Given the description of an element on the screen output the (x, y) to click on. 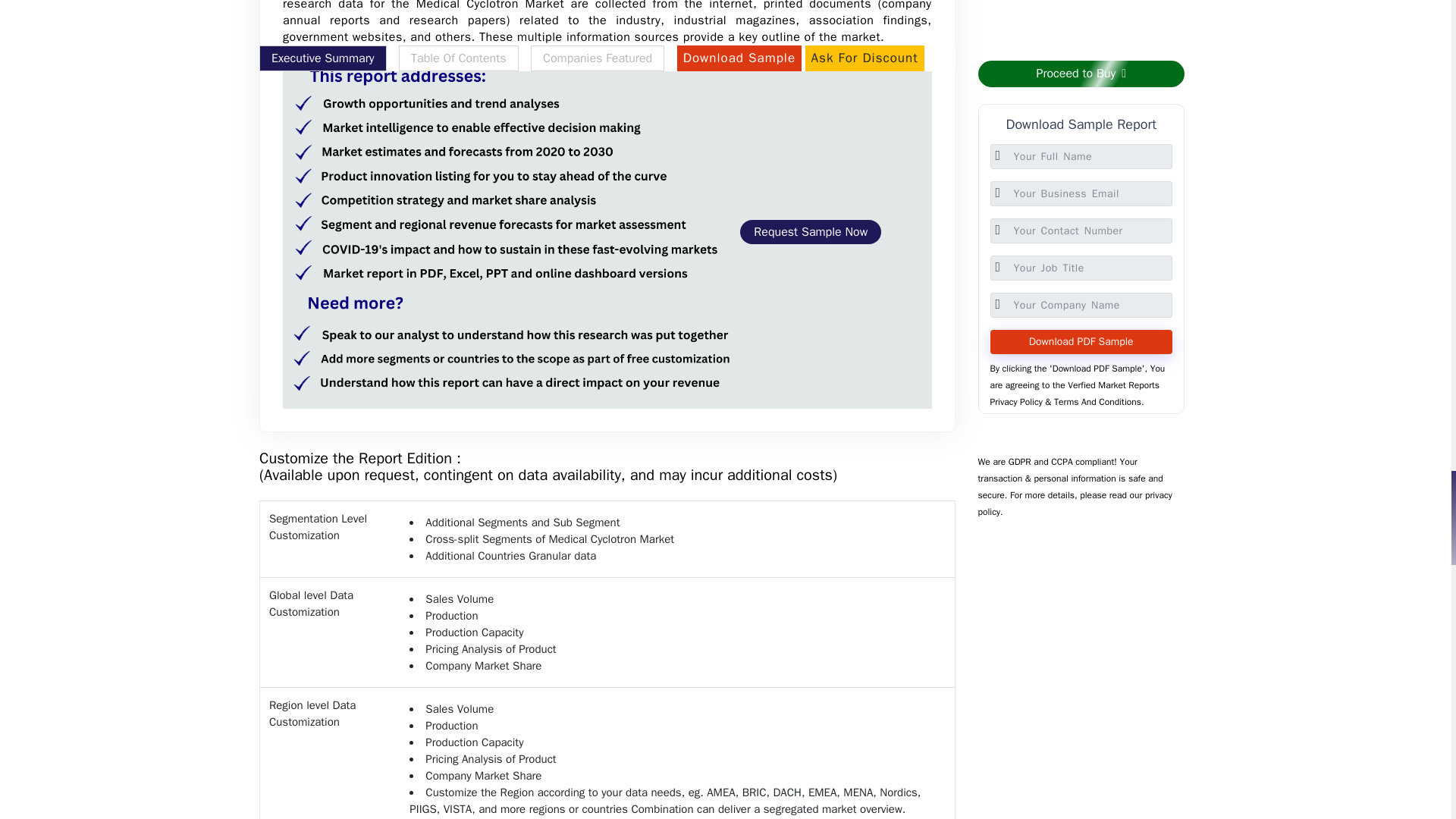
Request Sample Now (809, 232)
